Given the description of an element on the screen output the (x, y) to click on. 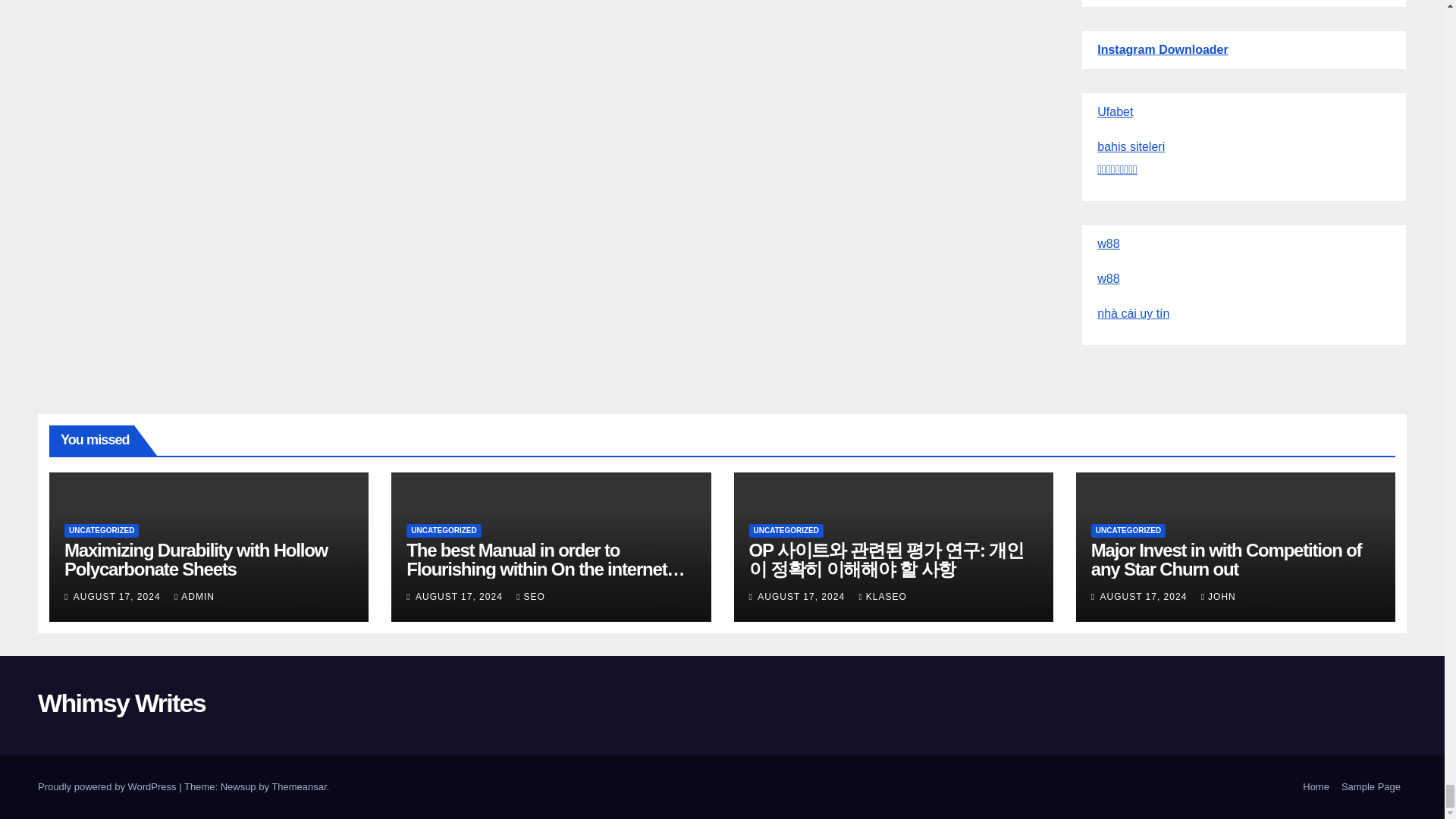
Home (1316, 786)
